Given the description of an element on the screen output the (x, y) to click on. 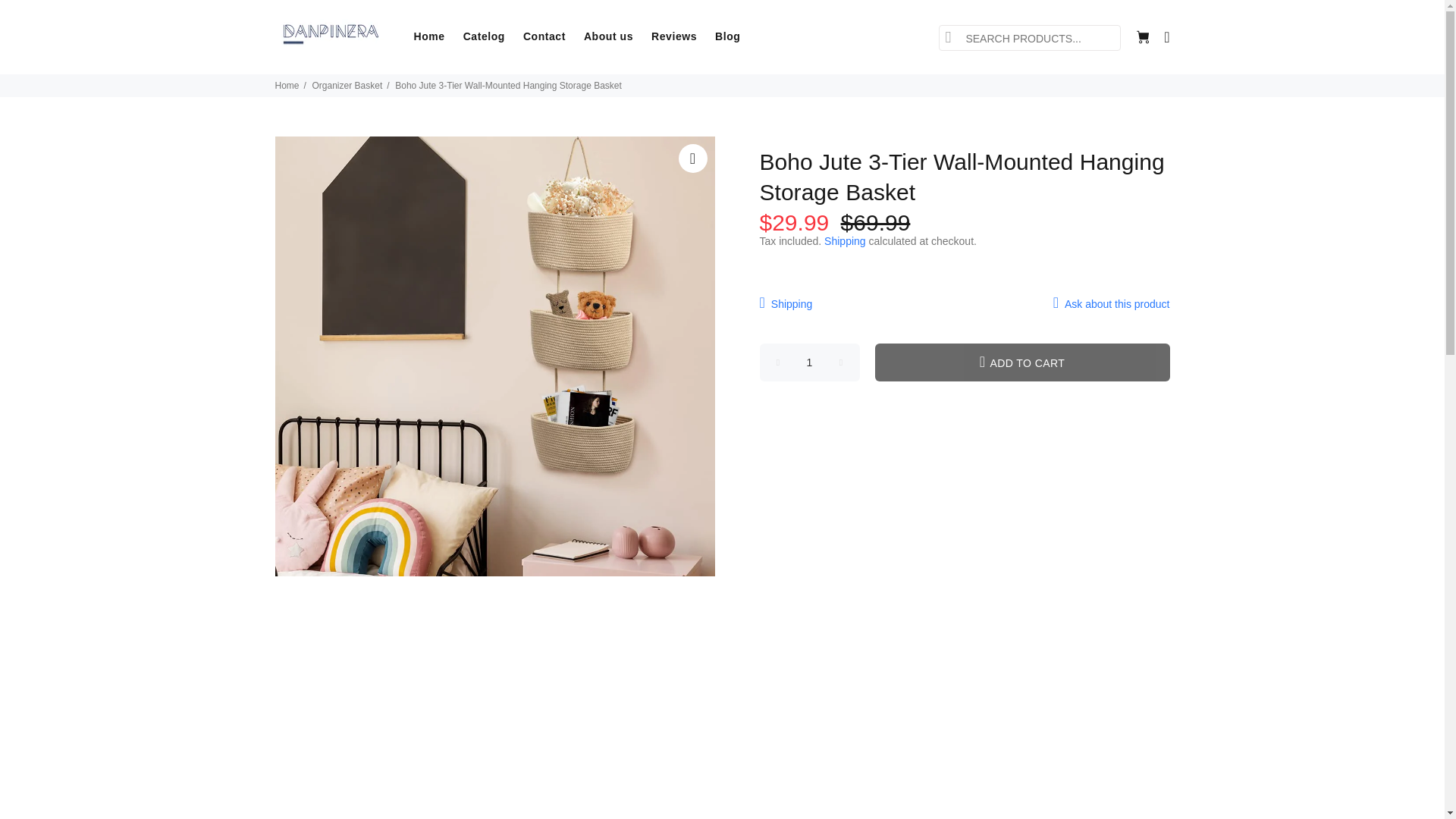
Catelog (483, 36)
About us (608, 36)
Home (429, 36)
Reviews (674, 36)
Blog (722, 36)
Contact (544, 36)
1 (810, 362)
